Given the description of an element on the screen output the (x, y) to click on. 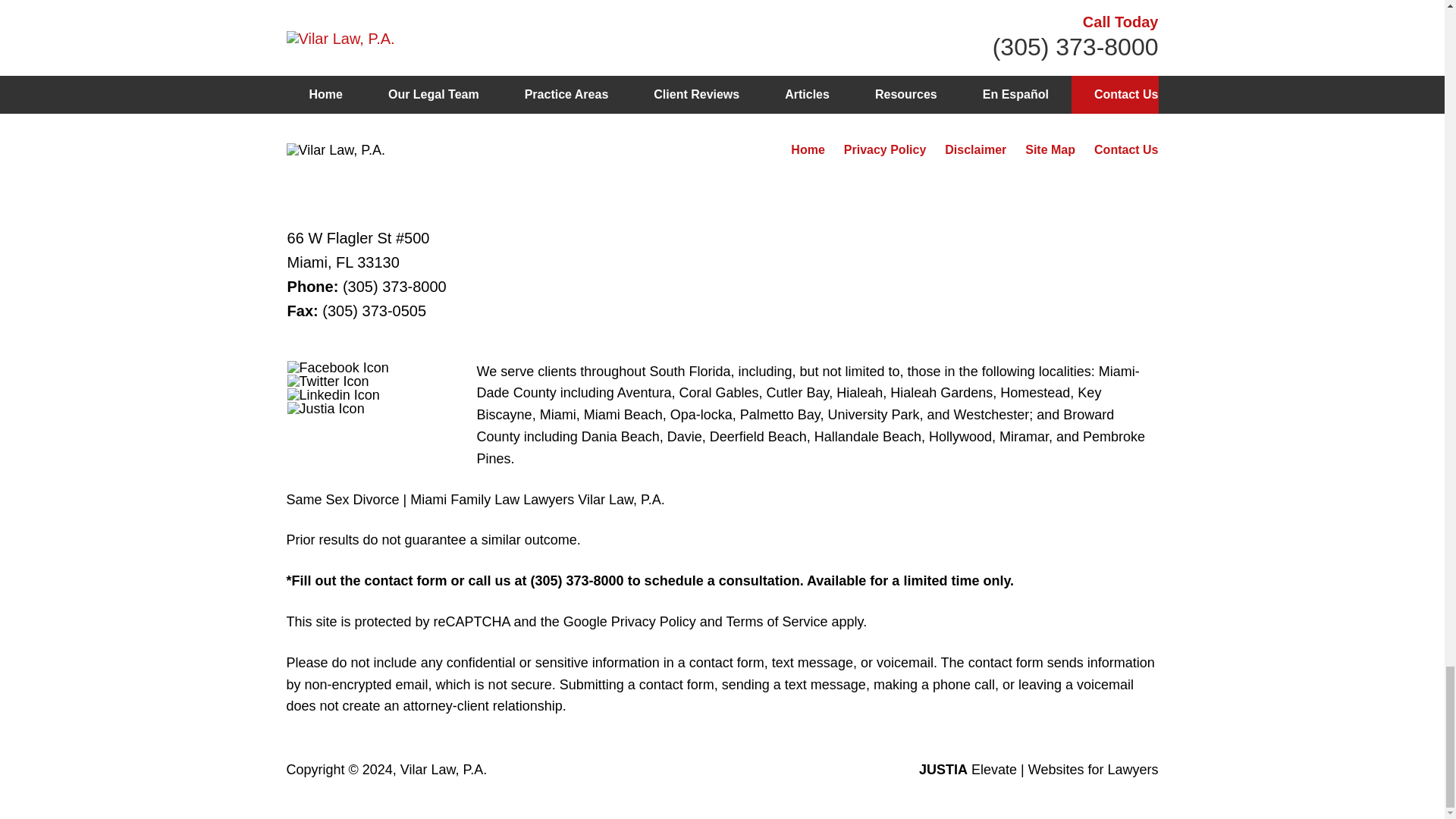
Justia (325, 408)
Twitter (327, 381)
Facebook (337, 367)
Linkedin (333, 395)
